Given the description of an element on the screen output the (x, y) to click on. 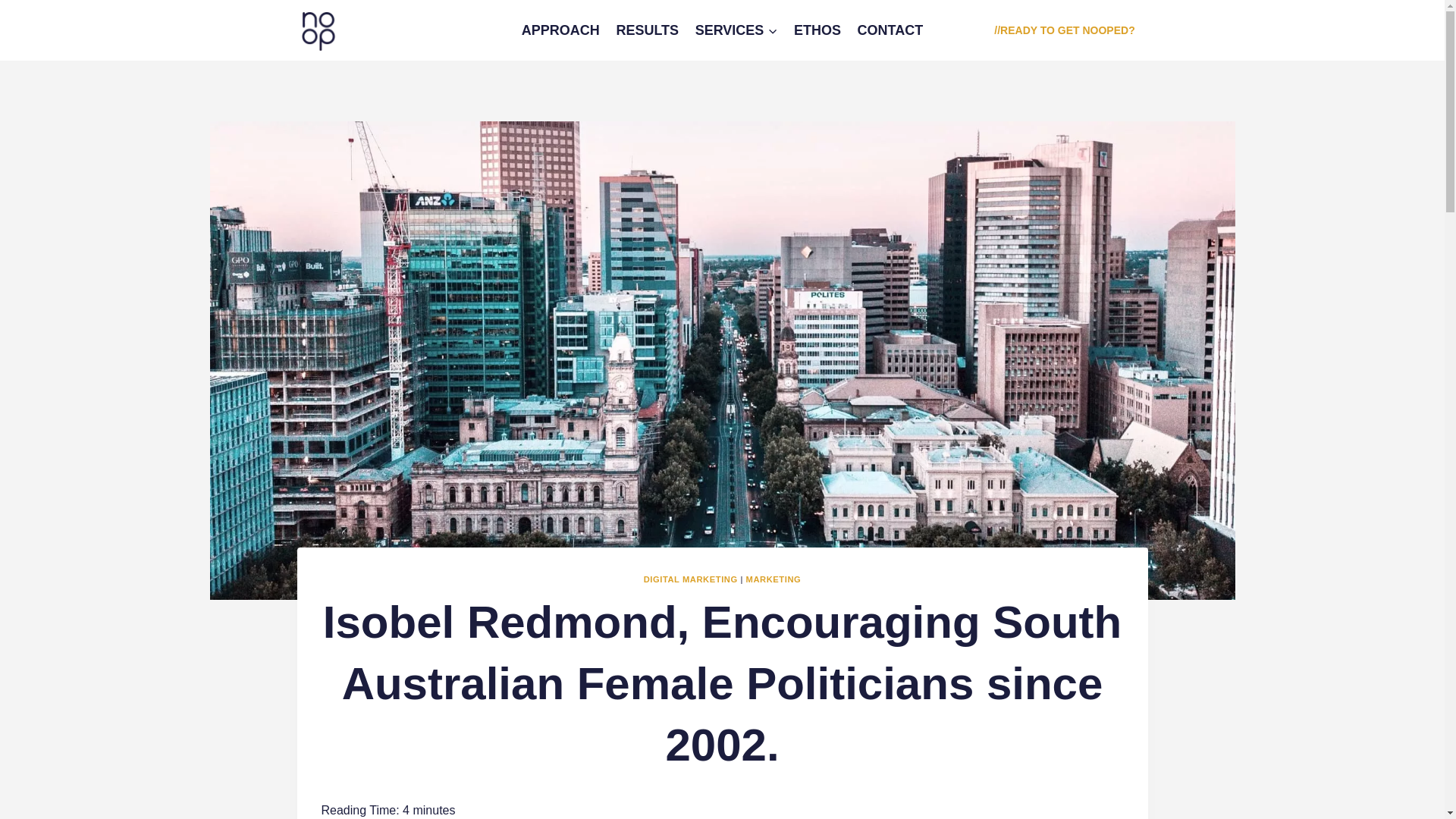
//READY TO GET NOOPED? Element type: text (1064, 29)
Skip to content Element type: text (0, 0)
MARKETING Element type: text (773, 578)
DIGITAL MARKETING Element type: text (690, 578)
CONTACT Element type: text (890, 29)
RESULTS Element type: text (647, 29)
SERVICES Element type: text (736, 29)
ETHOS Element type: text (817, 29)
APPROACH Element type: text (560, 29)
